Given the description of an element on the screen output the (x, y) to click on. 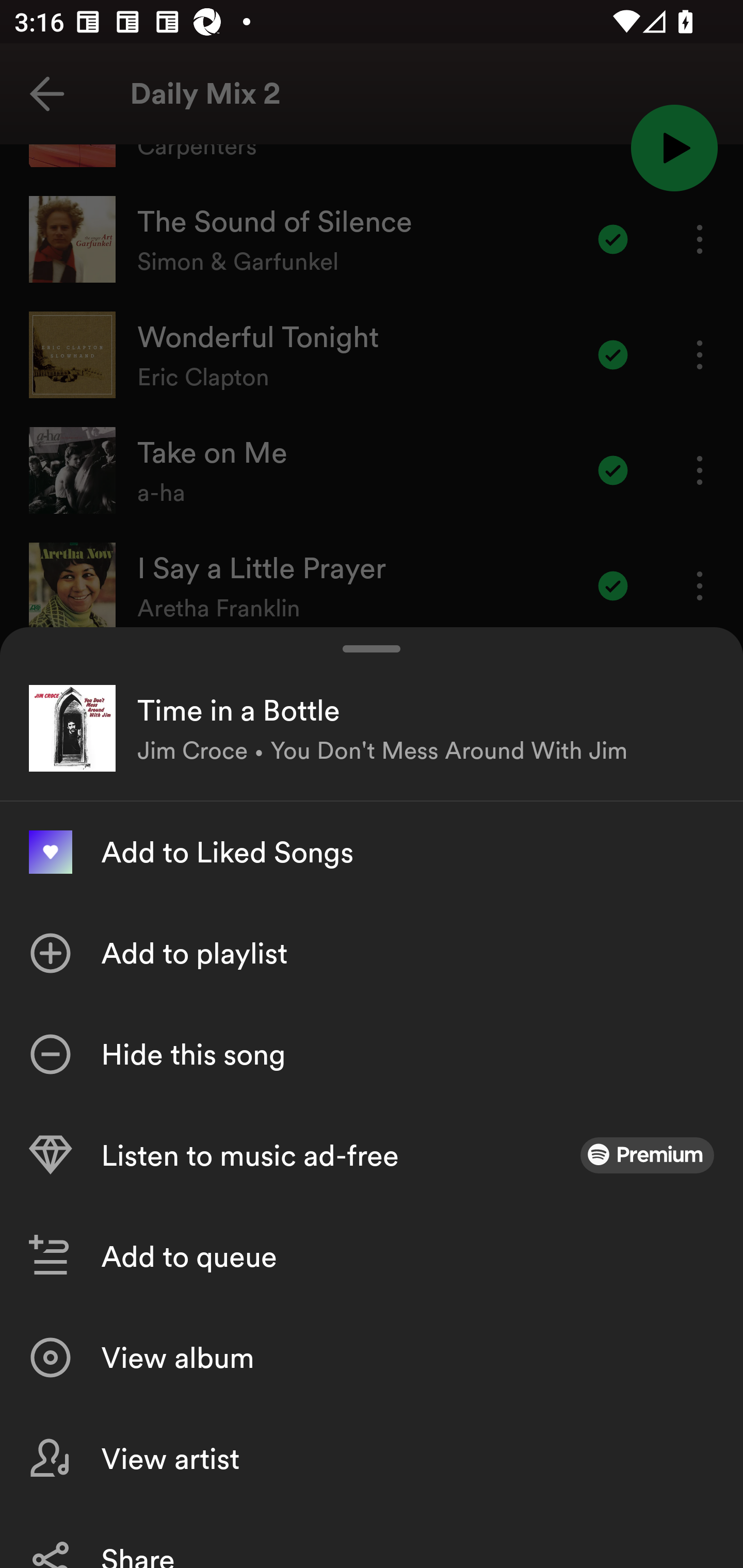
Add to Liked Songs (371, 852)
Add to playlist (371, 953)
Hide this song (371, 1054)
Listen to music ad-free (371, 1155)
Add to queue (371, 1256)
View album (371, 1357)
View artist (371, 1458)
Share (371, 1538)
